Given the description of an element on the screen output the (x, y) to click on. 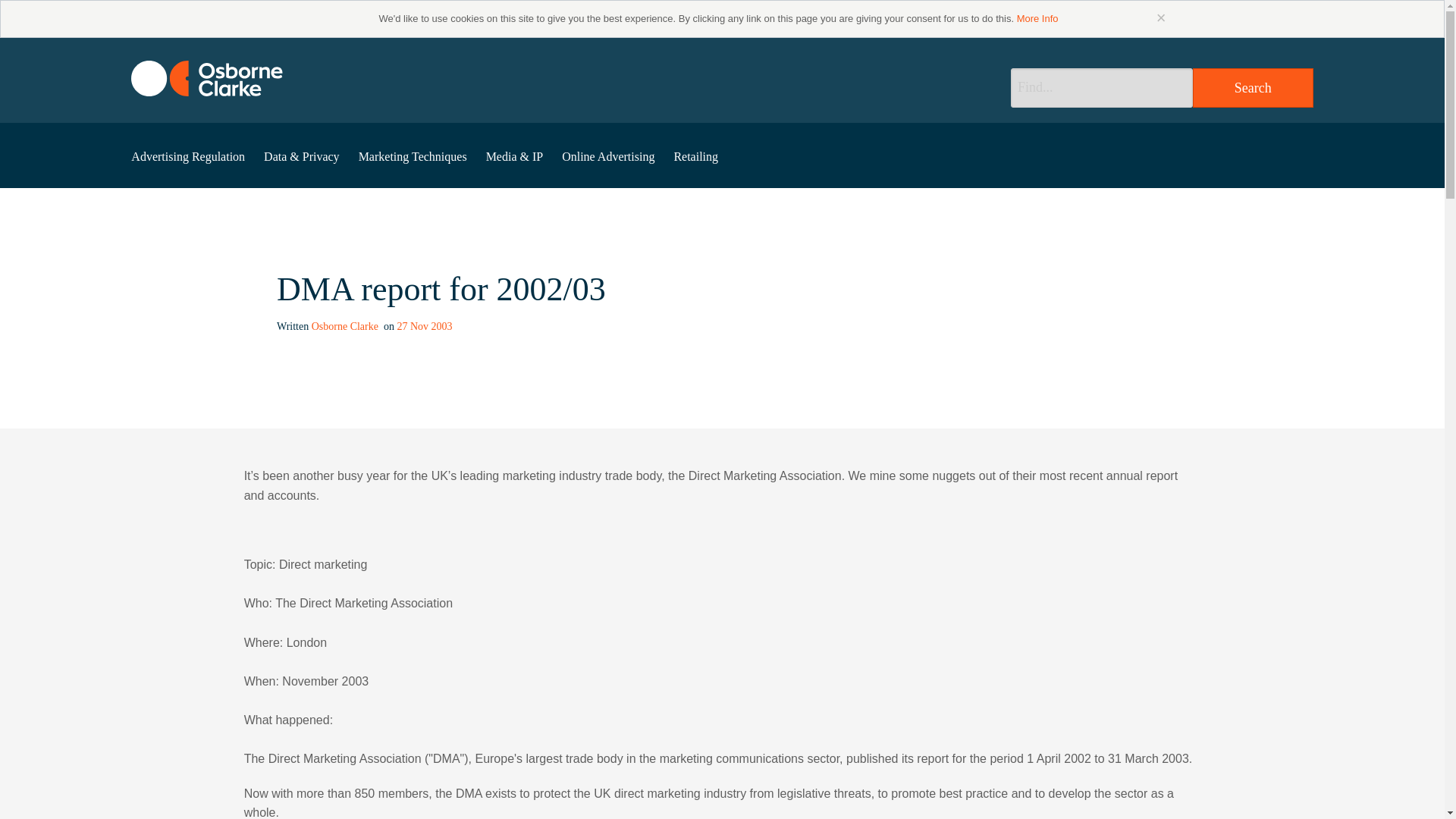
Advertising Regulation (188, 155)
More Info (1037, 18)
27 Nov 2003 (423, 326)
'View all posts by Osborne Clarke (346, 326)
Retailing (695, 155)
marketinglaw (206, 78)
Osborne Clarke (346, 326)
Search (1252, 87)
Marketing Techniques (412, 155)
Online Advertising (608, 155)
